Given the description of an element on the screen output the (x, y) to click on. 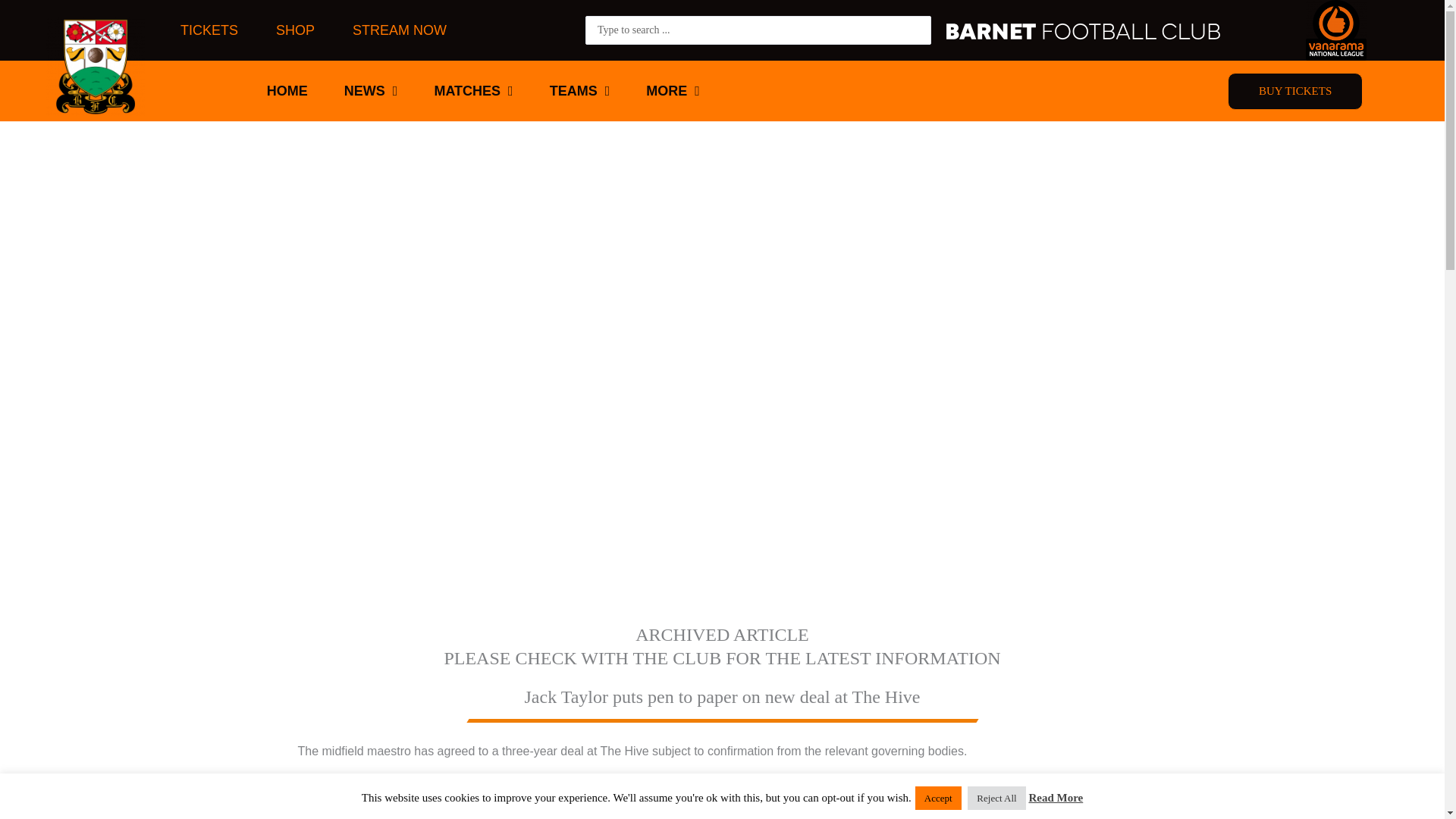
HOME (287, 90)
TEAMS (580, 90)
MORE (672, 90)
NEWS (371, 90)
STREAM NOW (399, 30)
TICKETS (209, 30)
MATCHES (473, 90)
SHOP (295, 30)
